Given the description of an element on the screen output the (x, y) to click on. 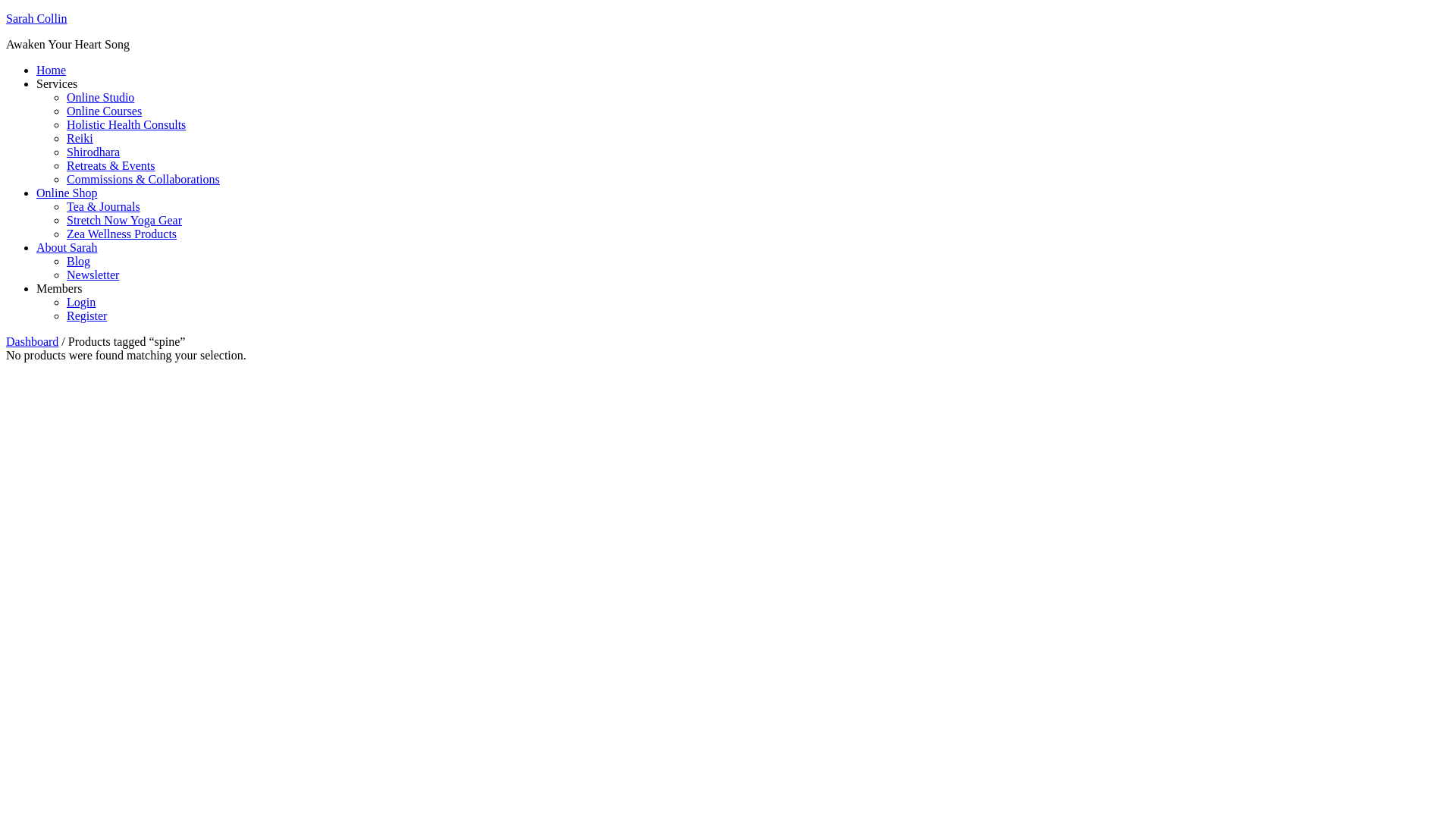
Home Element type: text (50, 69)
Reiki Element type: text (79, 137)
Members Element type: text (58, 288)
Sarah Collin Element type: text (36, 18)
Zea Wellness Products Element type: text (121, 233)
About Sarah Element type: text (66, 247)
Online Courses Element type: text (103, 110)
Retreats & Events Element type: text (110, 165)
Commissions & Collaborations Element type: text (142, 178)
Services Element type: text (56, 83)
Holistic Health Consults Element type: text (125, 124)
Dashboard Element type: text (32, 341)
Shirodhara Element type: text (92, 151)
Online Shop Element type: text (66, 192)
Stretch Now Yoga Gear Element type: text (124, 219)
Online Studio Element type: text (100, 97)
Register Element type: text (86, 315)
Newsletter Element type: text (92, 274)
Blog Element type: text (78, 260)
Tea & Journals Element type: text (103, 206)
Login Element type: text (80, 301)
